Given the description of an element on the screen output the (x, y) to click on. 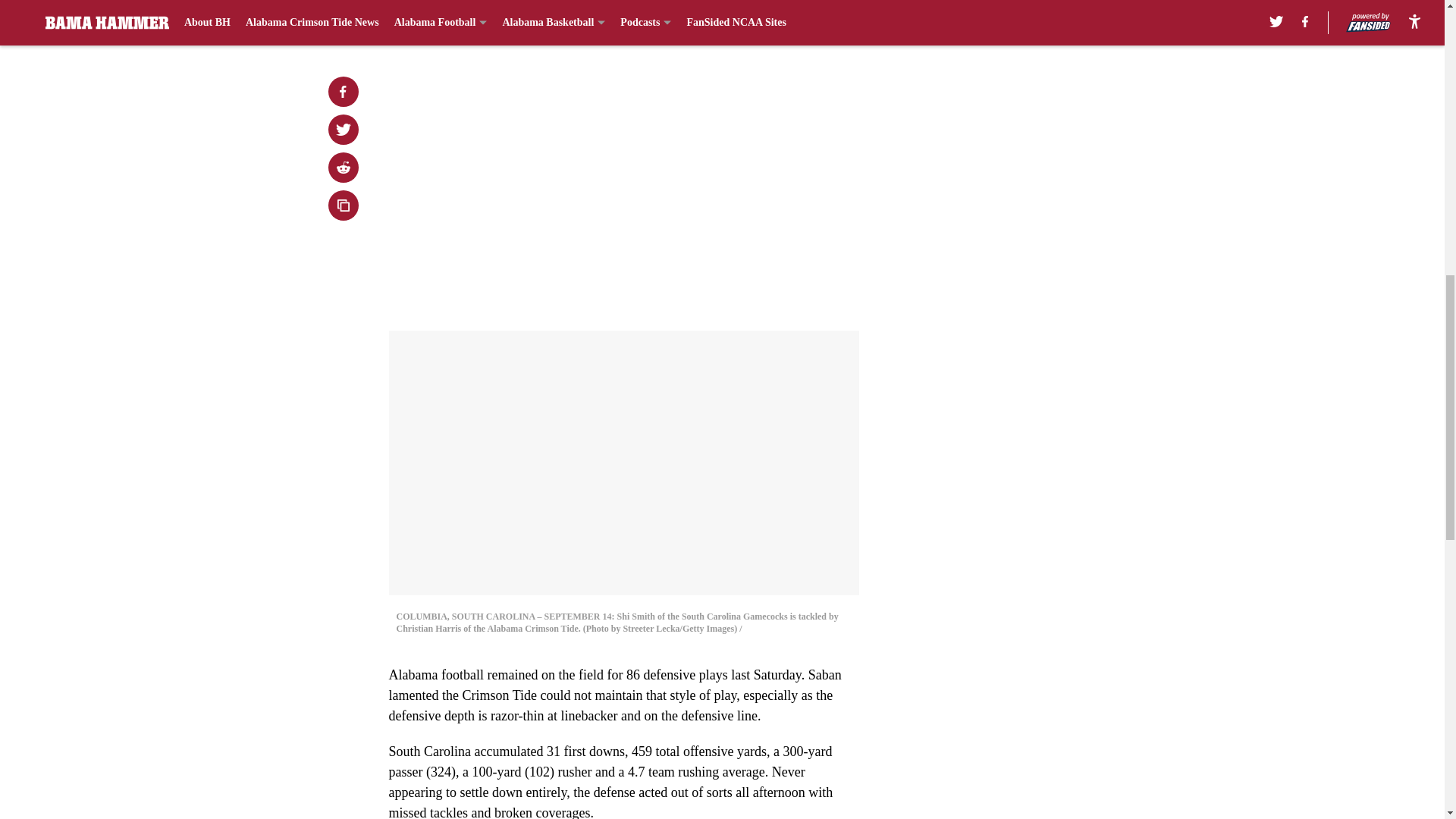
Prev (433, 20)
Next (813, 20)
